Given the description of an element on the screen output the (x, y) to click on. 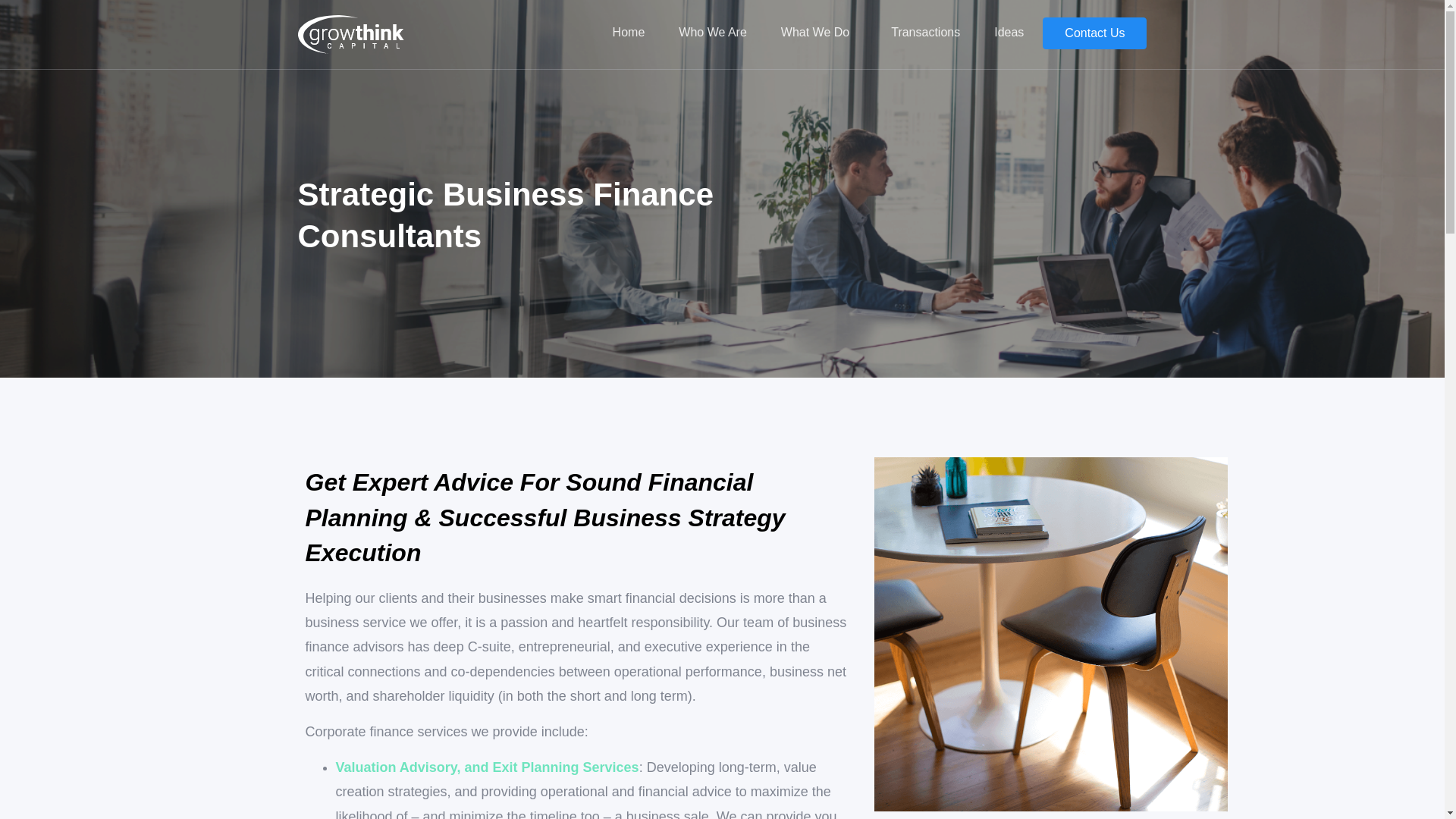
Who We Are (712, 32)
Ideas (1008, 32)
What We Do (818, 32)
Transactions (925, 32)
Contact Us (1094, 33)
Home (628, 32)
